Given the description of an element on the screen output the (x, y) to click on. 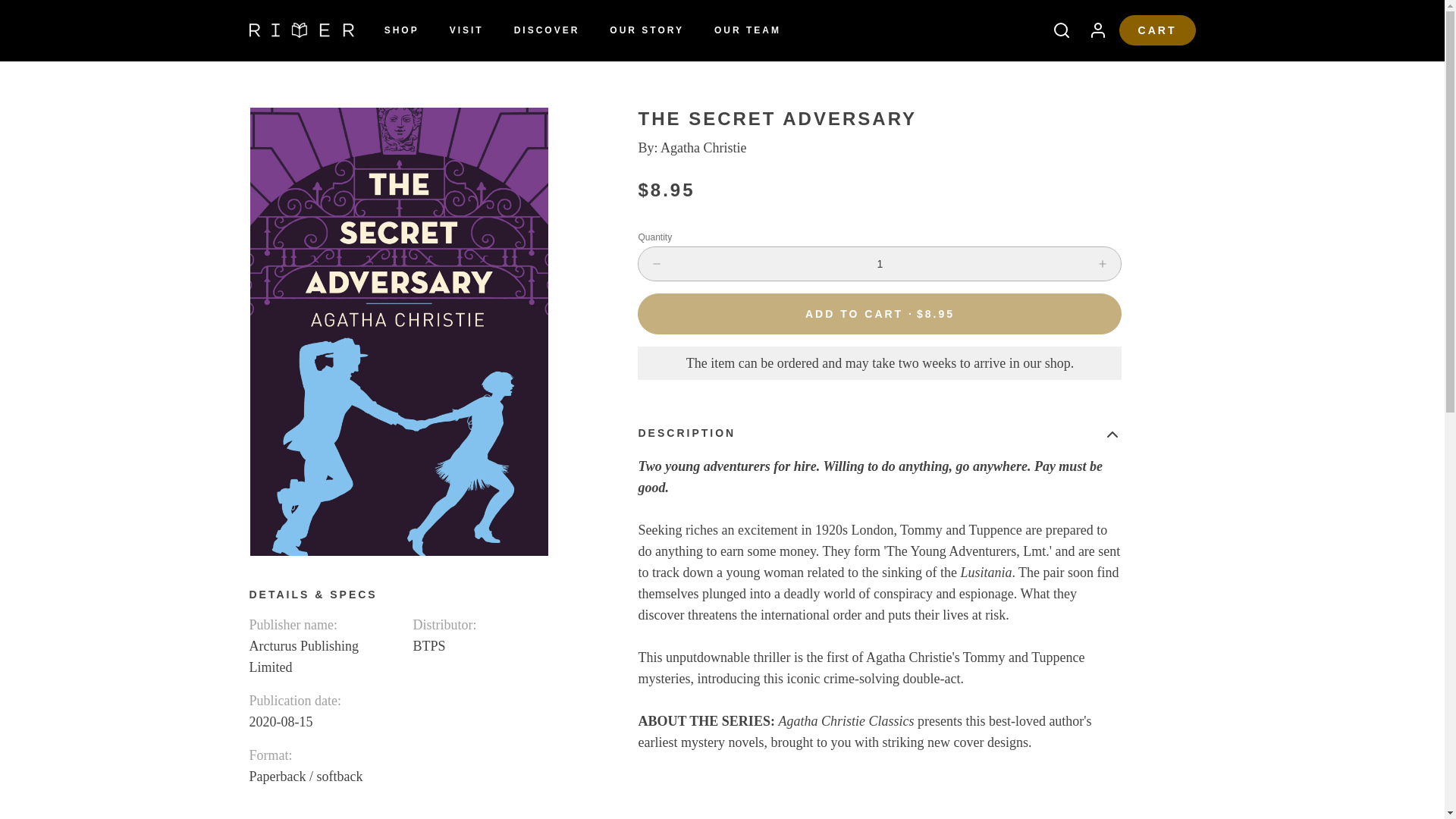
OUR STORY (645, 30)
Increase quantity (1102, 263)
1 (879, 263)
OUR TEAM (747, 30)
CART (1157, 30)
Decrease quantity (657, 263)
SHOP (401, 30)
VISIT (467, 30)
Search (1055, 30)
River Bookshop (300, 29)
DISCOVER (547, 30)
 Log in (1091, 30)
